Given the description of an element on the screen output the (x, y) to click on. 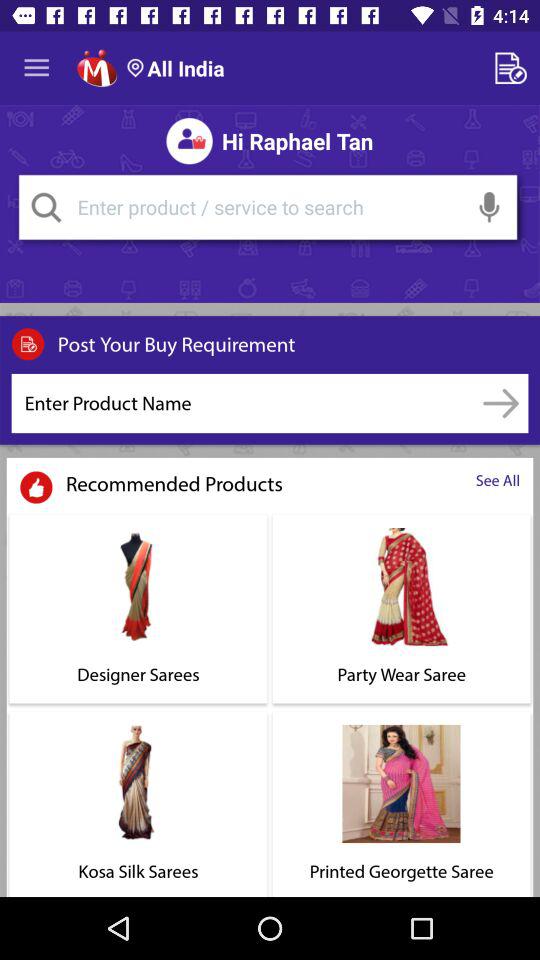
contact form (514, 68)
